Given the description of an element on the screen output the (x, y) to click on. 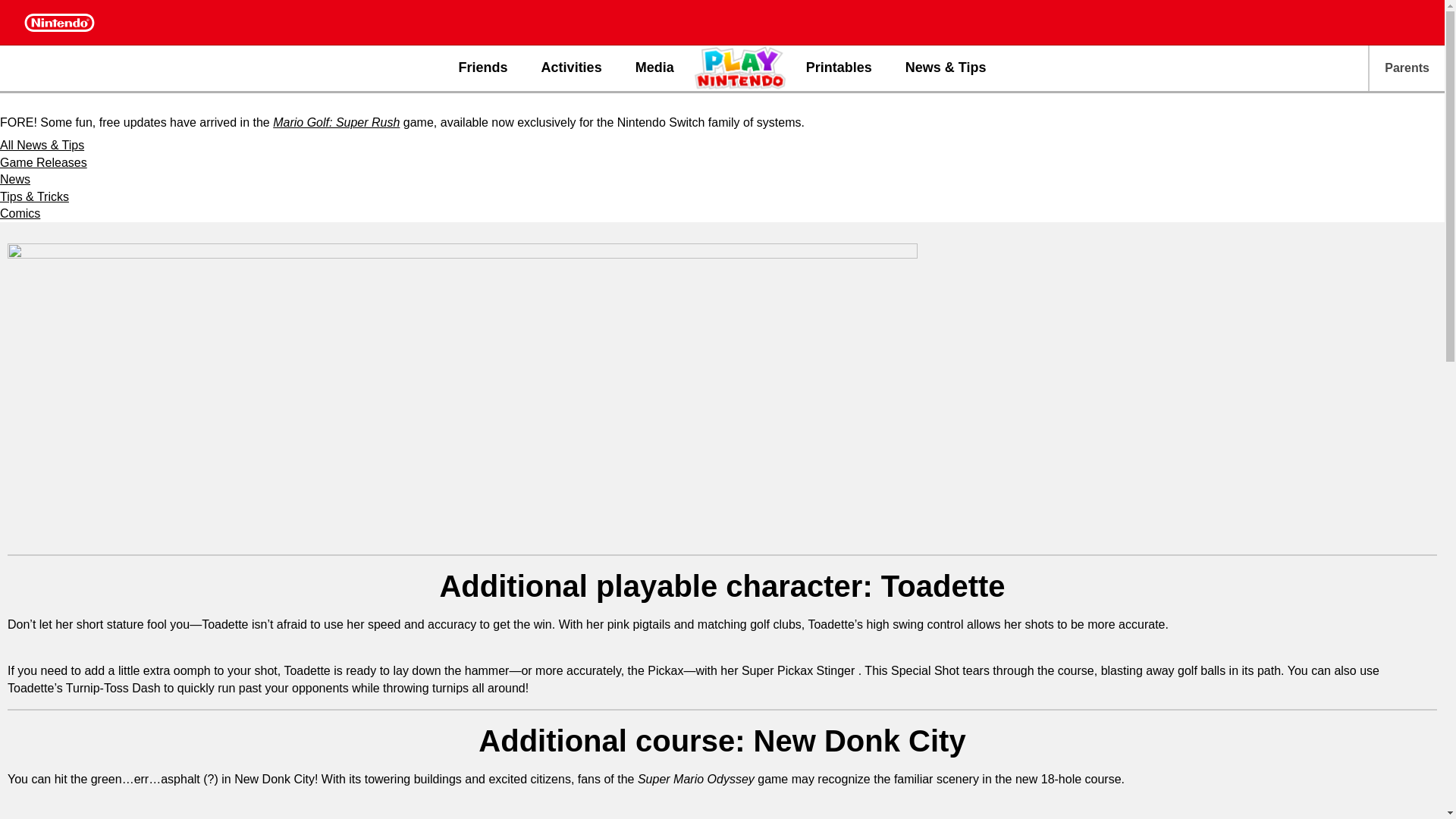
Homepage (742, 67)
Comics (20, 213)
Mario Golf: Super Rush (335, 122)
Activities (571, 67)
Friends (483, 67)
News (15, 178)
Game Releases (43, 162)
Printables (838, 67)
Media (654, 67)
